Given the description of an element on the screen output the (x, y) to click on. 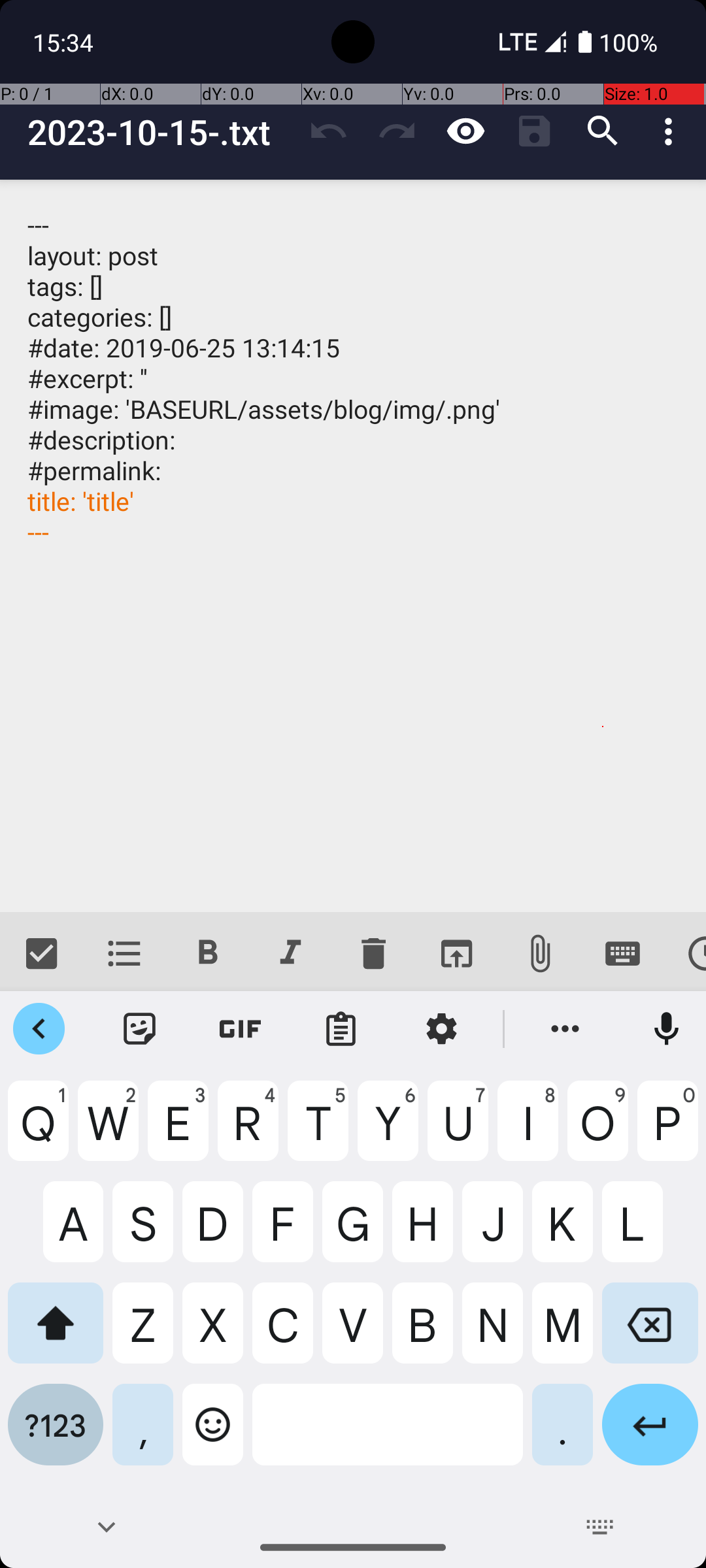
2023-10-15-.txt Element type: android.widget.TextView (160, 131)
---
layout: post
tags: []
categories: []
#date: 2019-06-25 13:14:15
#excerpt: ''
#image: 'BASEURL/assets/blog/img/.png'
#description:
#permalink:
title: 'title'
---


 Element type: android.widget.EditText (353, 545)
